Given the description of an element on the screen output the (x, y) to click on. 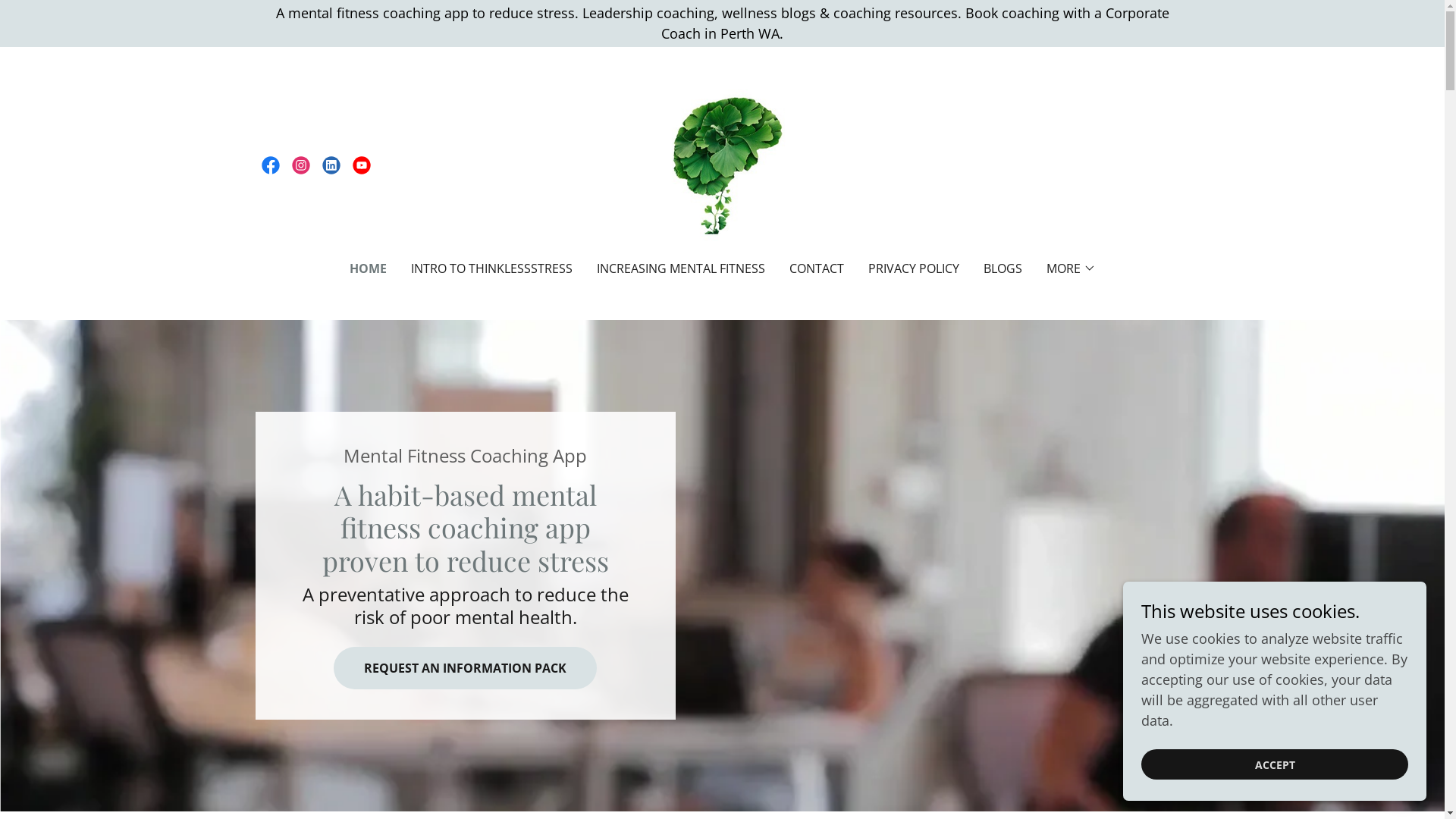
MORE Element type: text (1070, 268)
PRIVACY POLICY Element type: text (912, 268)
HOME Element type: text (366, 268)
BLOGS Element type: text (1002, 268)
ACCEPT Element type: text (1274, 764)
Life Renewal  Element type: hover (721, 163)
CONTACT Element type: text (815, 268)
INTRO TO THINKLESSSTRESS Element type: text (491, 268)
REQUEST AN INFORMATION PACK Element type: text (464, 667)
INCREASING MENTAL FITNESS Element type: text (679, 268)
